Given the description of an element on the screen output the (x, y) to click on. 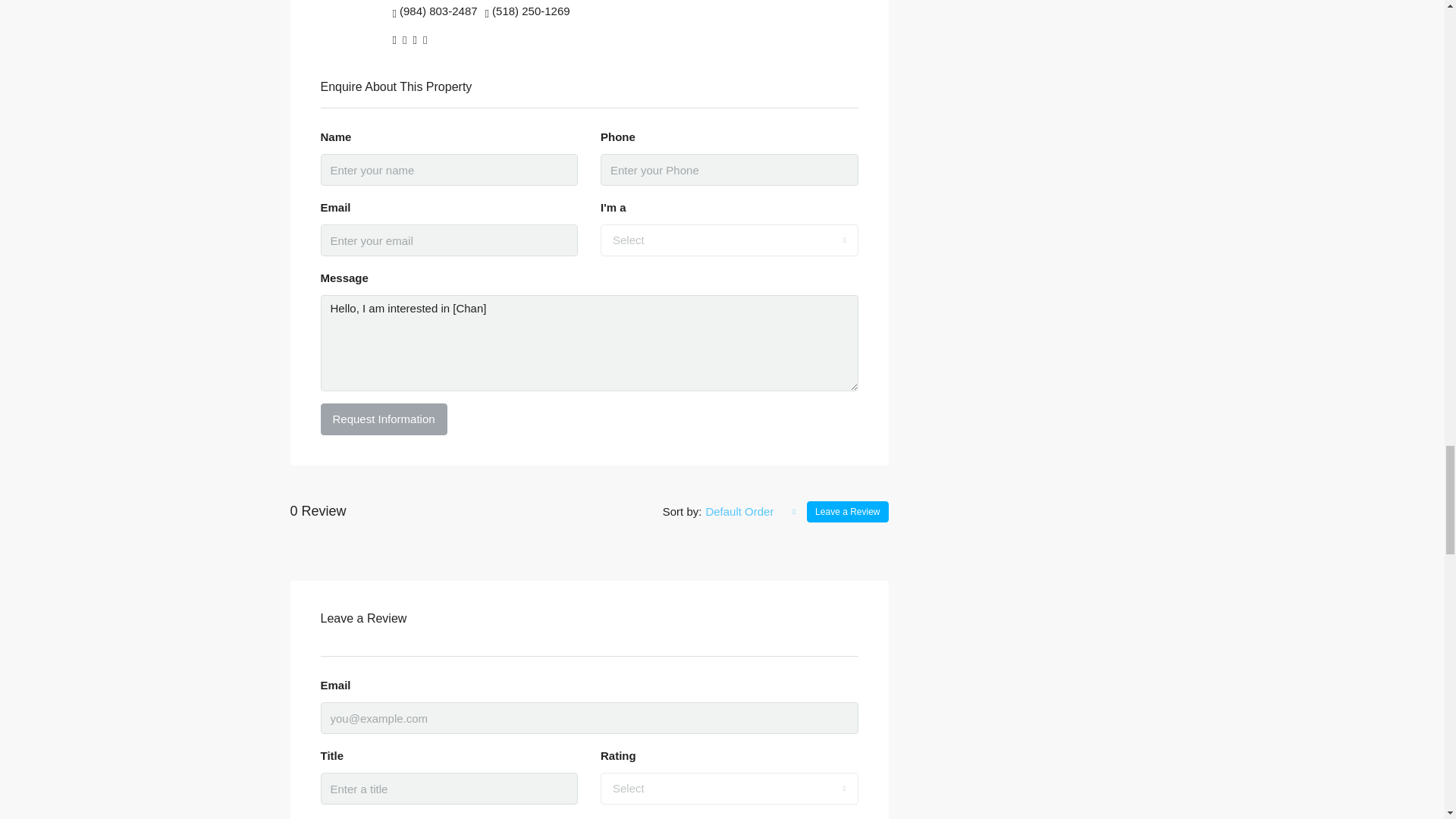
Default Order (750, 511)
Select (729, 240)
Select (729, 788)
